Given the description of an element on the screen output the (x, y) to click on. 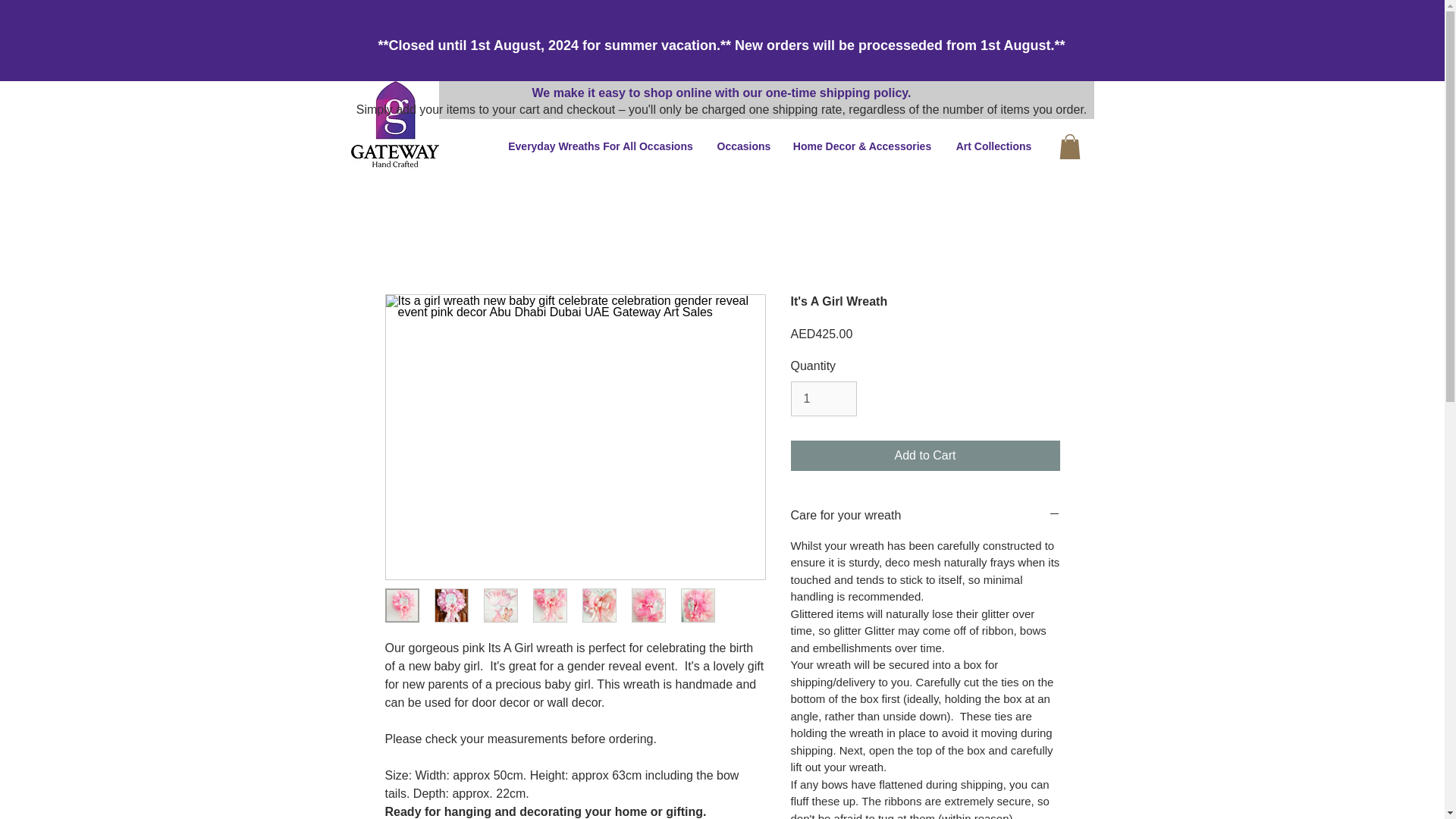
Occasions (742, 146)
1 (823, 398)
Art Collections (993, 146)
Everyday Wreaths For All Occasions (601, 146)
